Given the description of an element on the screen output the (x, y) to click on. 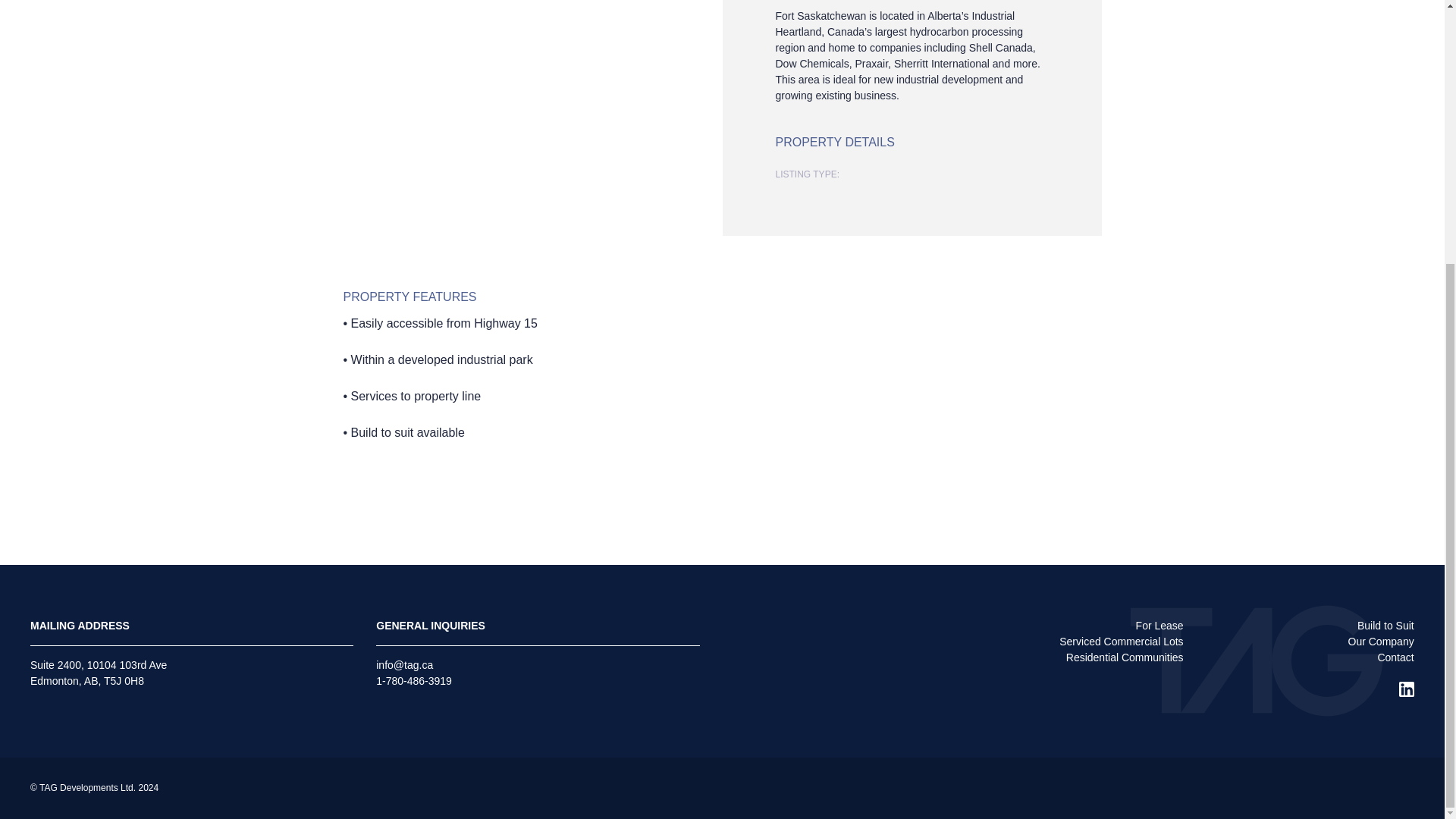
Build to Suit (1384, 625)
Our Company (1380, 641)
Serviced Commercial Lots (1120, 641)
For Lease (1159, 625)
Residential Communities (1124, 657)
Contact (1395, 657)
1-780-486-3919 (413, 680)
